Given the description of an element on the screen output the (x, y) to click on. 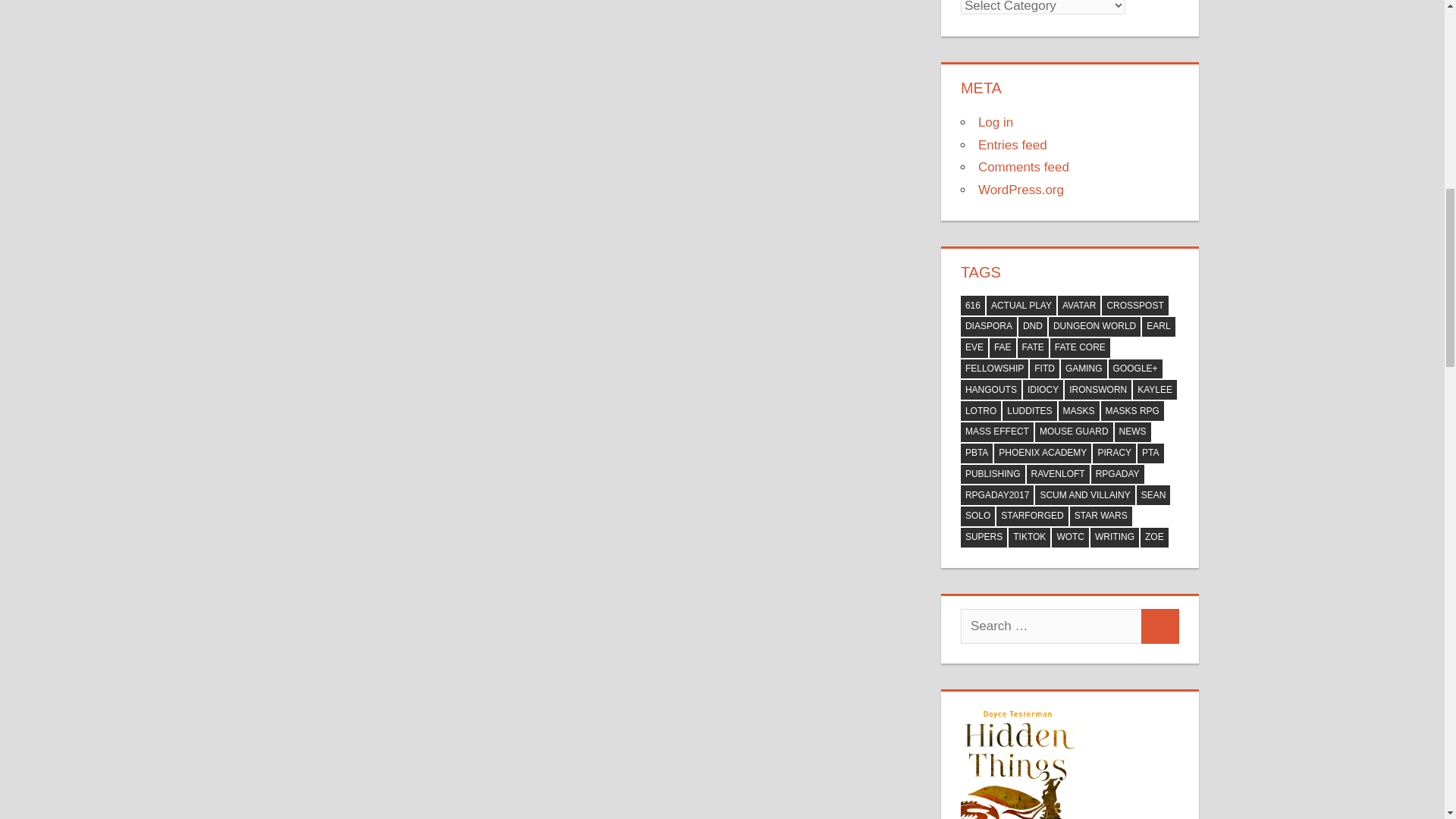
Search for: (1050, 626)
